Given the description of an element on the screen output the (x, y) to click on. 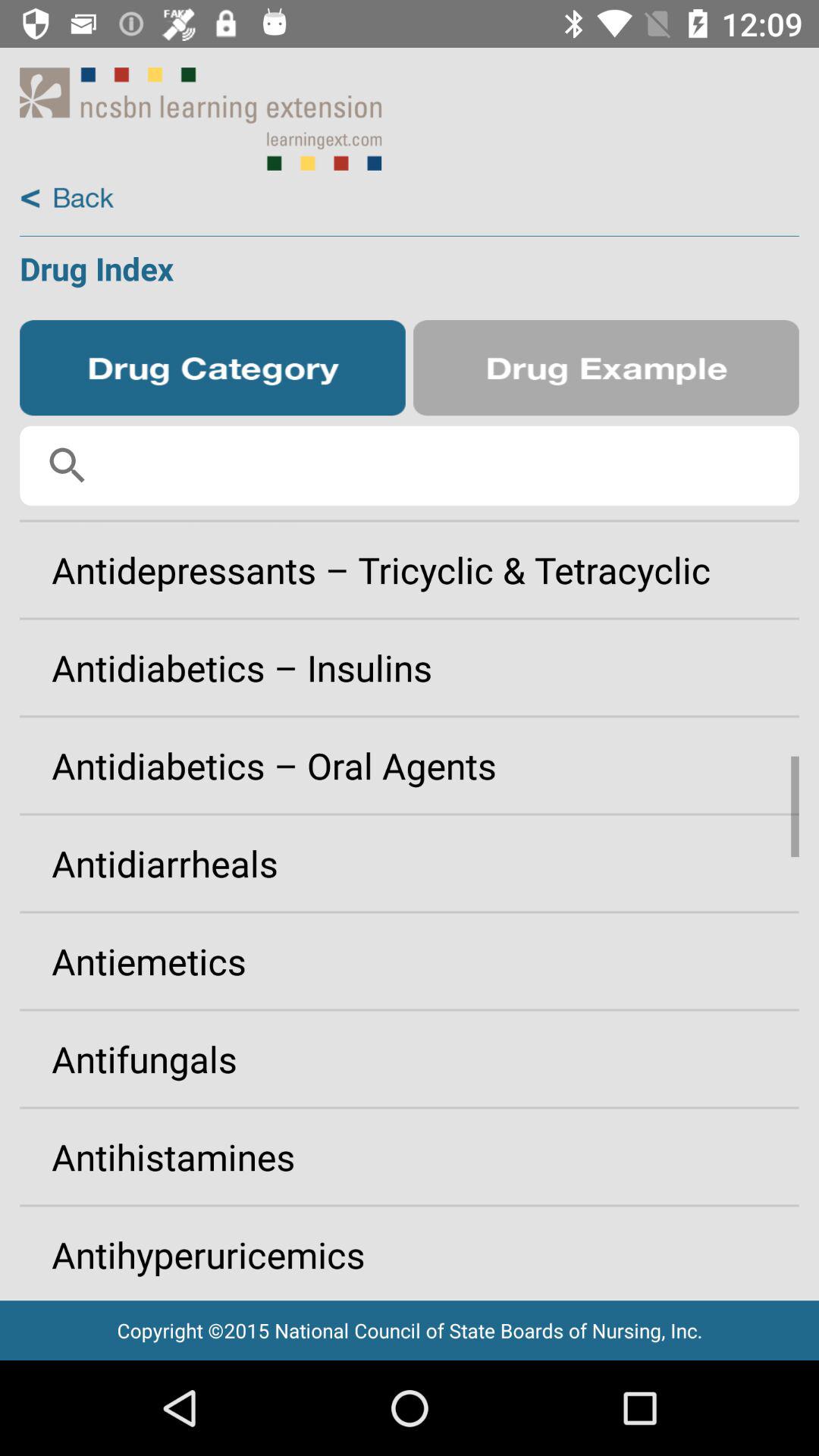
scroll until the antiemetics item (409, 960)
